Given the description of an element on the screen output the (x, y) to click on. 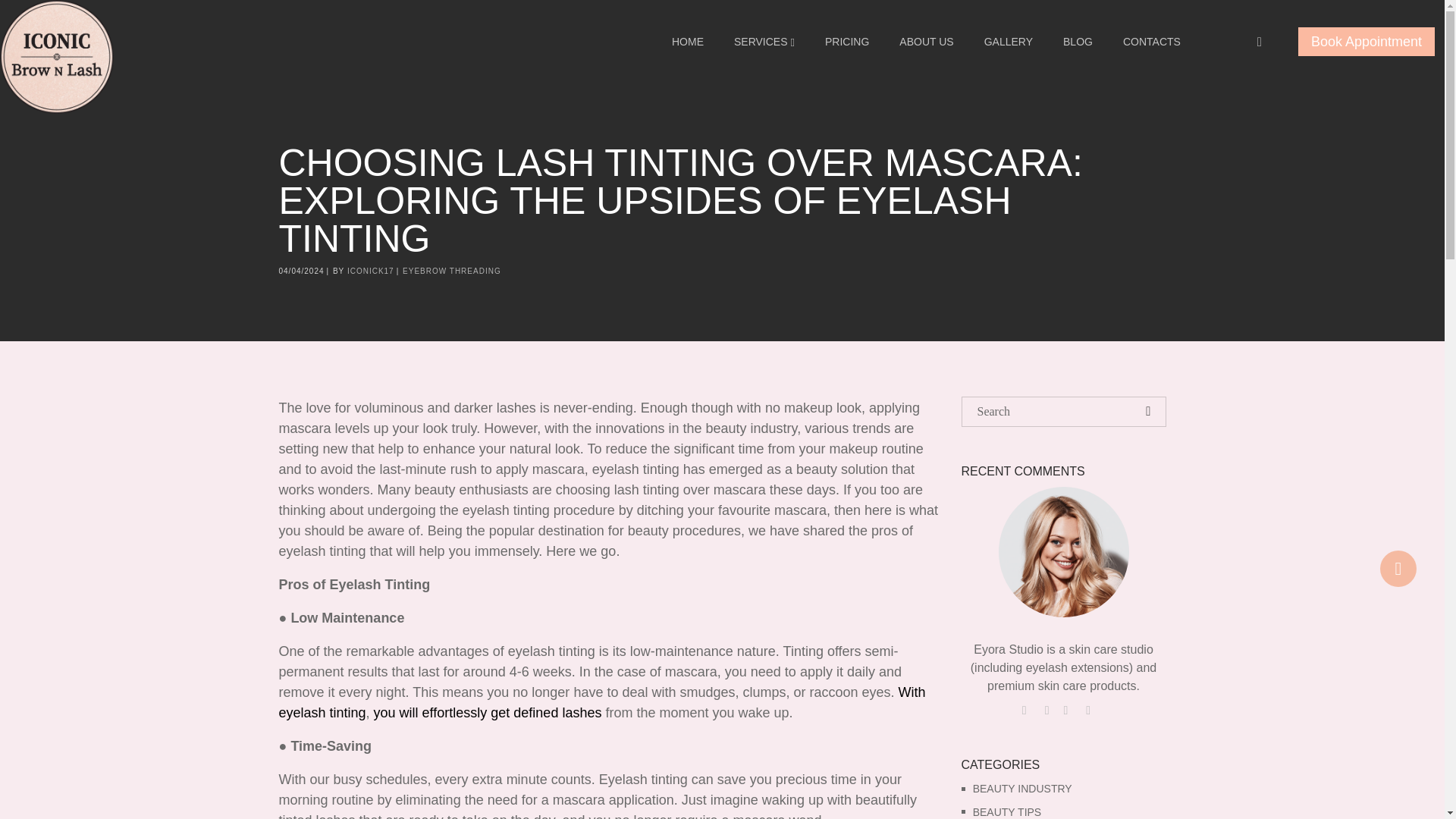
Pricing (846, 41)
PRICING (846, 41)
Services (763, 41)
GALLERY (1008, 41)
BLOG (1077, 41)
Blog (1077, 41)
SERVICES (763, 41)
ABOUT US (925, 41)
About us (925, 41)
CONTACTS (1151, 41)
